Given the description of an element on the screen output the (x, y) to click on. 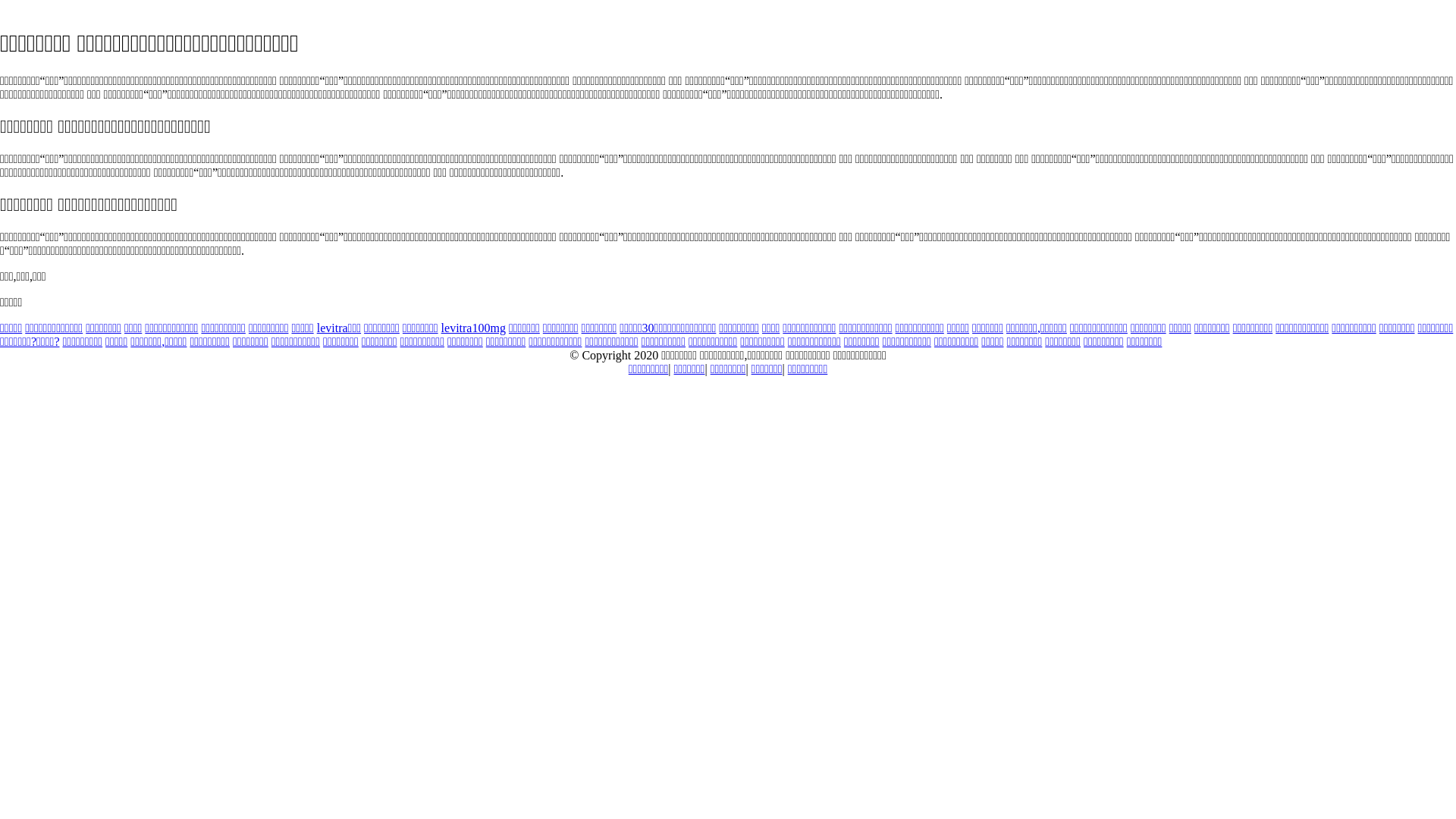
levitra100mg Element type: text (473, 327)
